Given the description of an element on the screen output the (x, y) to click on. 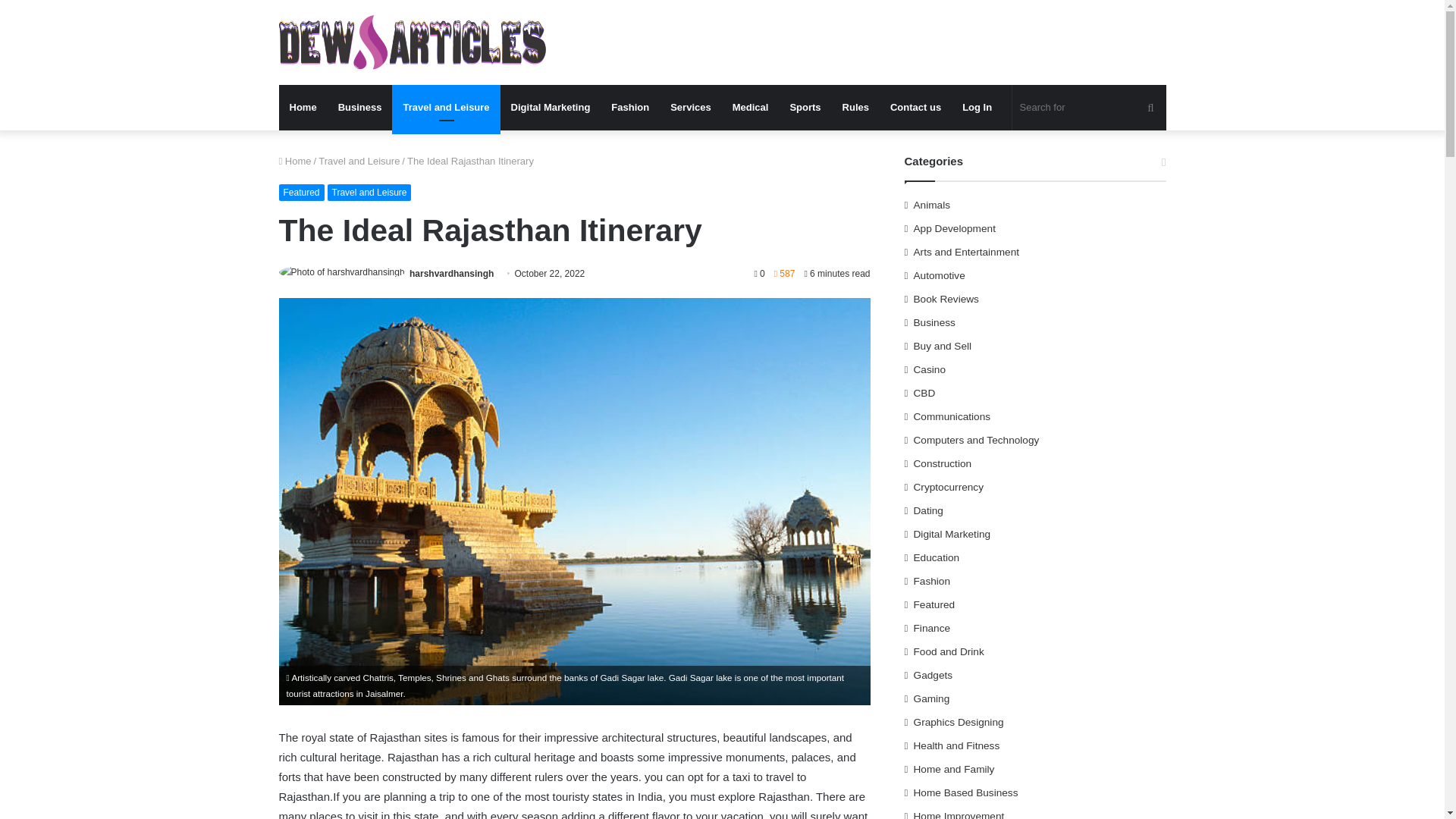
Travel and Leisure (369, 192)
Travel and Leisure (445, 107)
Fashion (629, 107)
Medical (750, 107)
Home (303, 107)
Digital Marketing (550, 107)
Sports (804, 107)
Home (295, 161)
Business (360, 107)
Rules (855, 107)
